Given the description of an element on the screen output the (x, y) to click on. 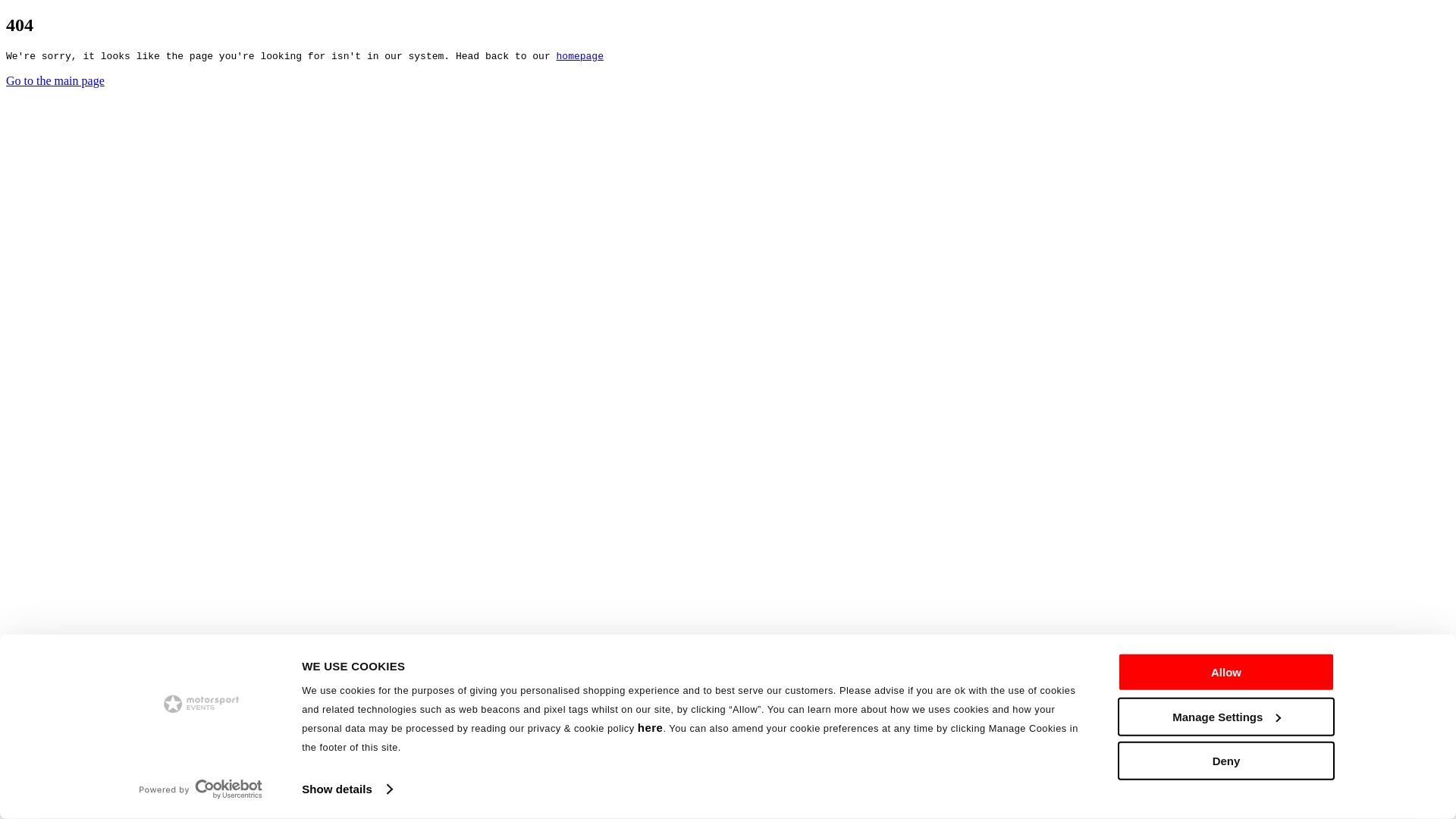
homepage (580, 56)
